Given the description of an element on the screen output the (x, y) to click on. 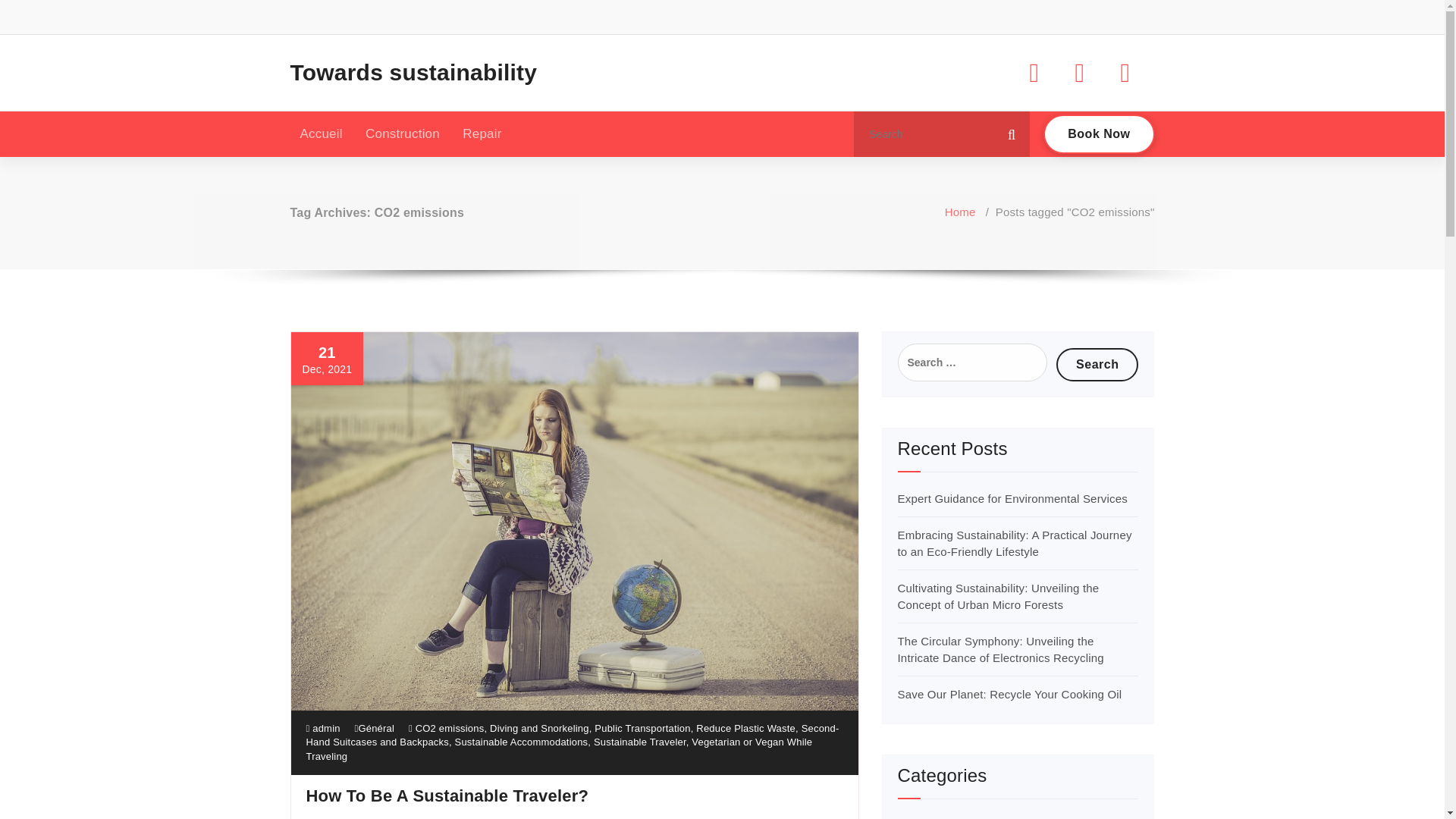
Book Now (1098, 133)
Construction (402, 134)
Home (959, 211)
Sustainable Traveler (639, 741)
admin (322, 727)
Search (1097, 363)
Search (1097, 363)
Reduce Plastic Waste (744, 727)
CO2 emissions (449, 727)
